Given the description of an element on the screen output the (x, y) to click on. 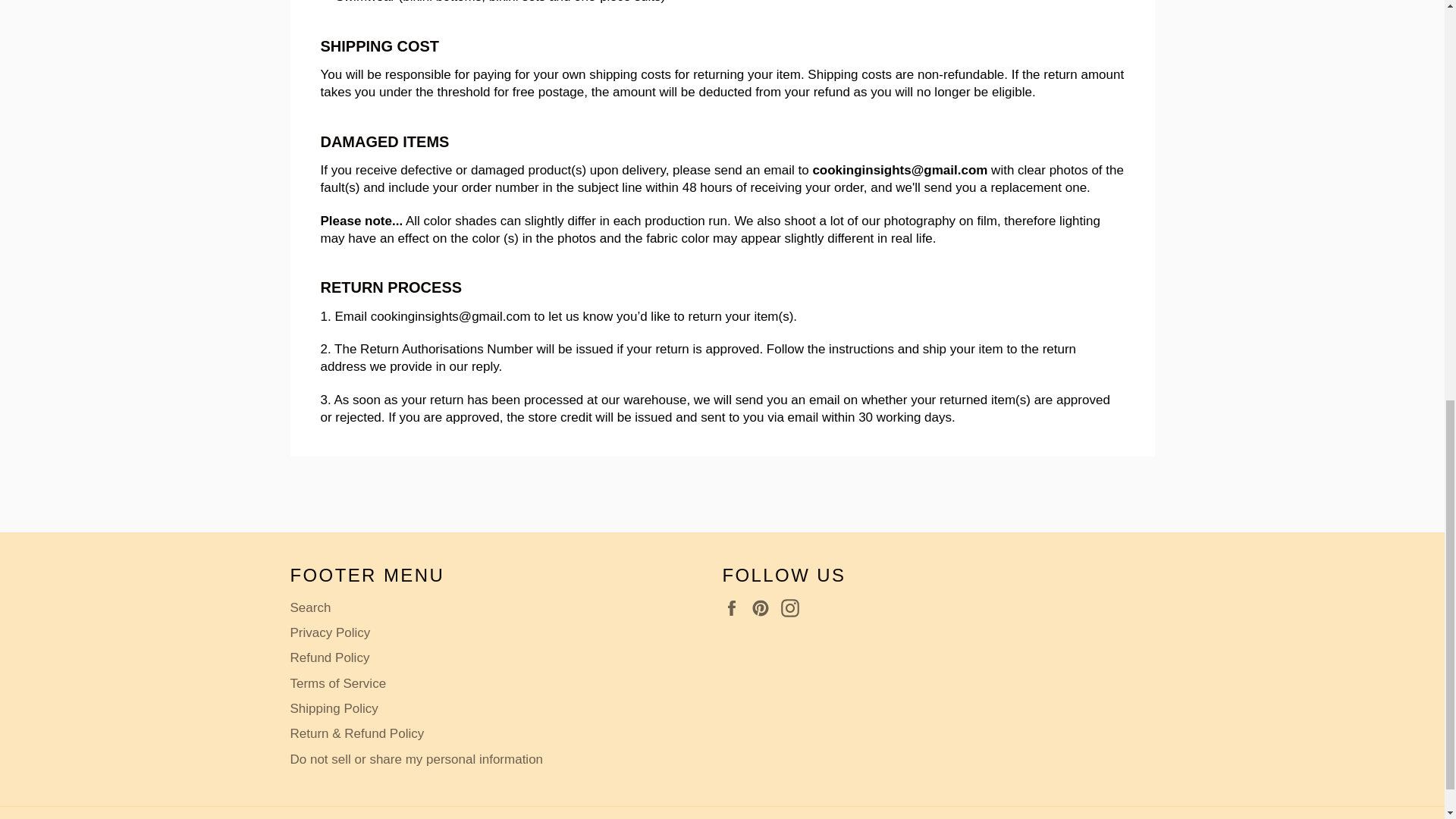
Cooking Insights on Facebook (735, 608)
Cooking Insights on Pinterest (764, 608)
Cooking Insights on Instagram (793, 608)
